Given the description of an element on the screen output the (x, y) to click on. 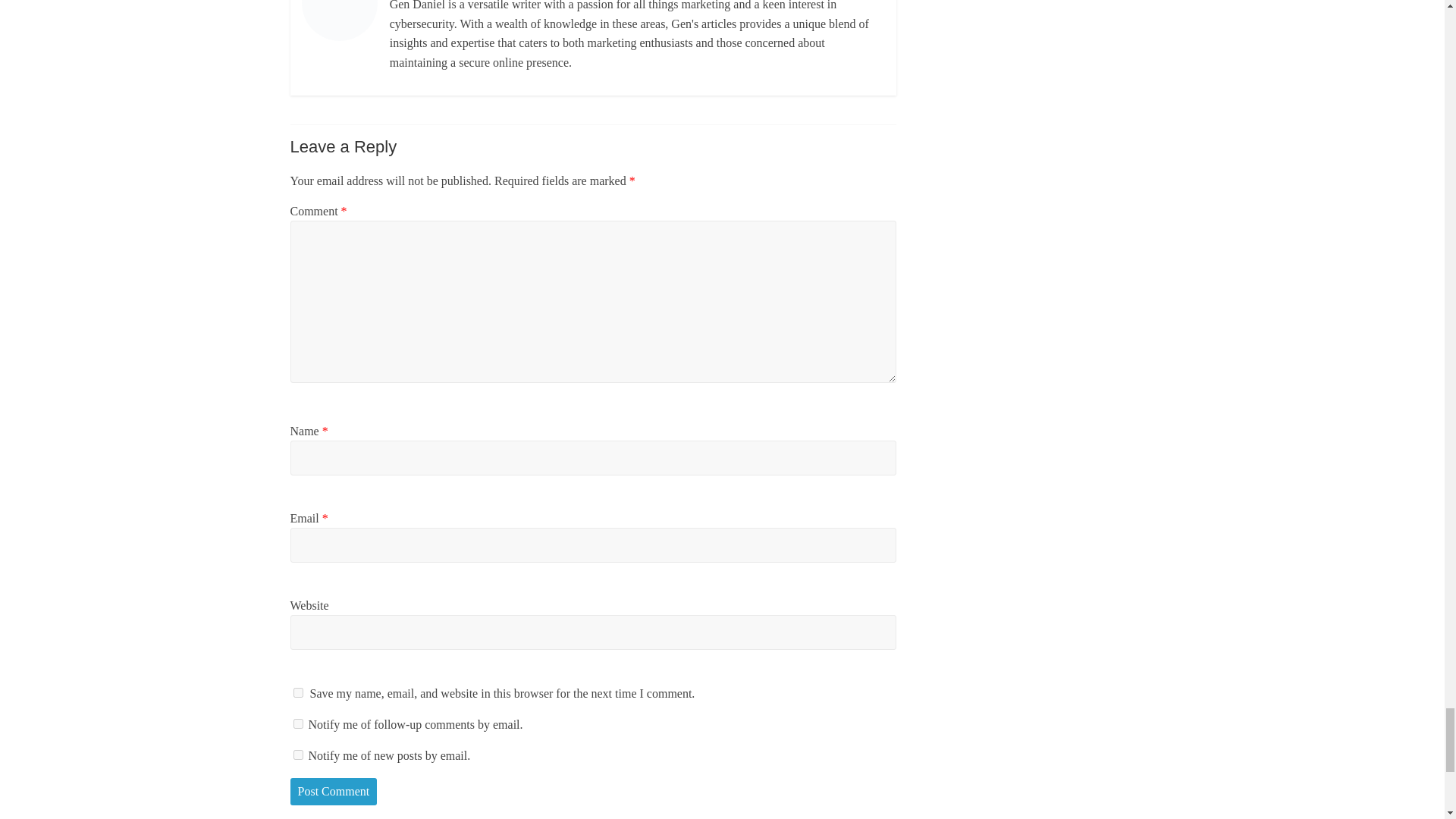
subscribe (297, 755)
subscribe (297, 723)
Post Comment (333, 791)
yes (297, 692)
